Given the description of an element on the screen output the (x, y) to click on. 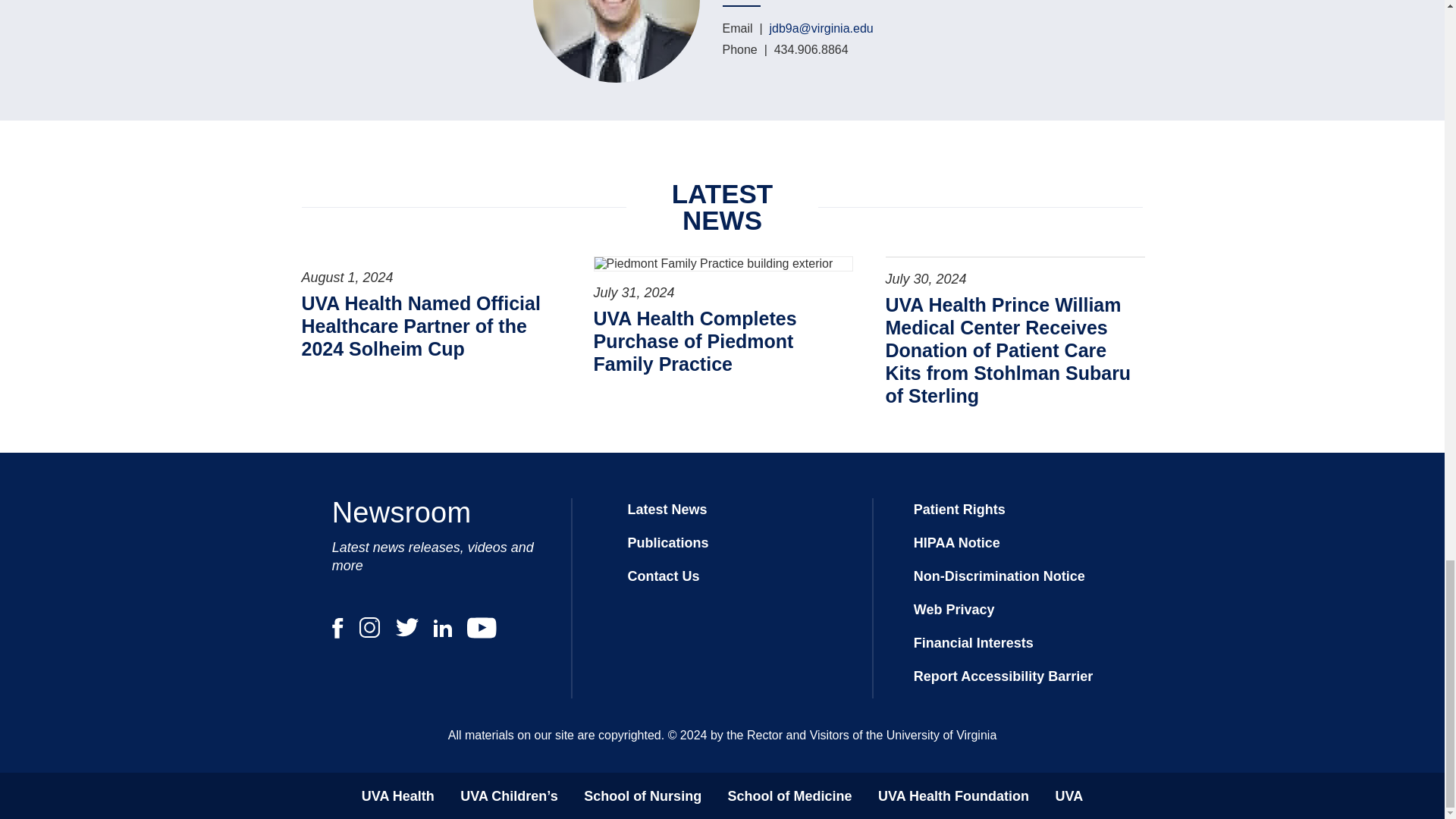
UVA Health Foundation (953, 795)
Web Privacy (954, 609)
School of Nursing (642, 795)
Contact Us (662, 575)
Patient Rights (960, 509)
HIPAA Notice (957, 542)
Publications (667, 542)
Report Accessibility Barrier (1003, 676)
UVA Health (397, 795)
